Given the description of an element on the screen output the (x, y) to click on. 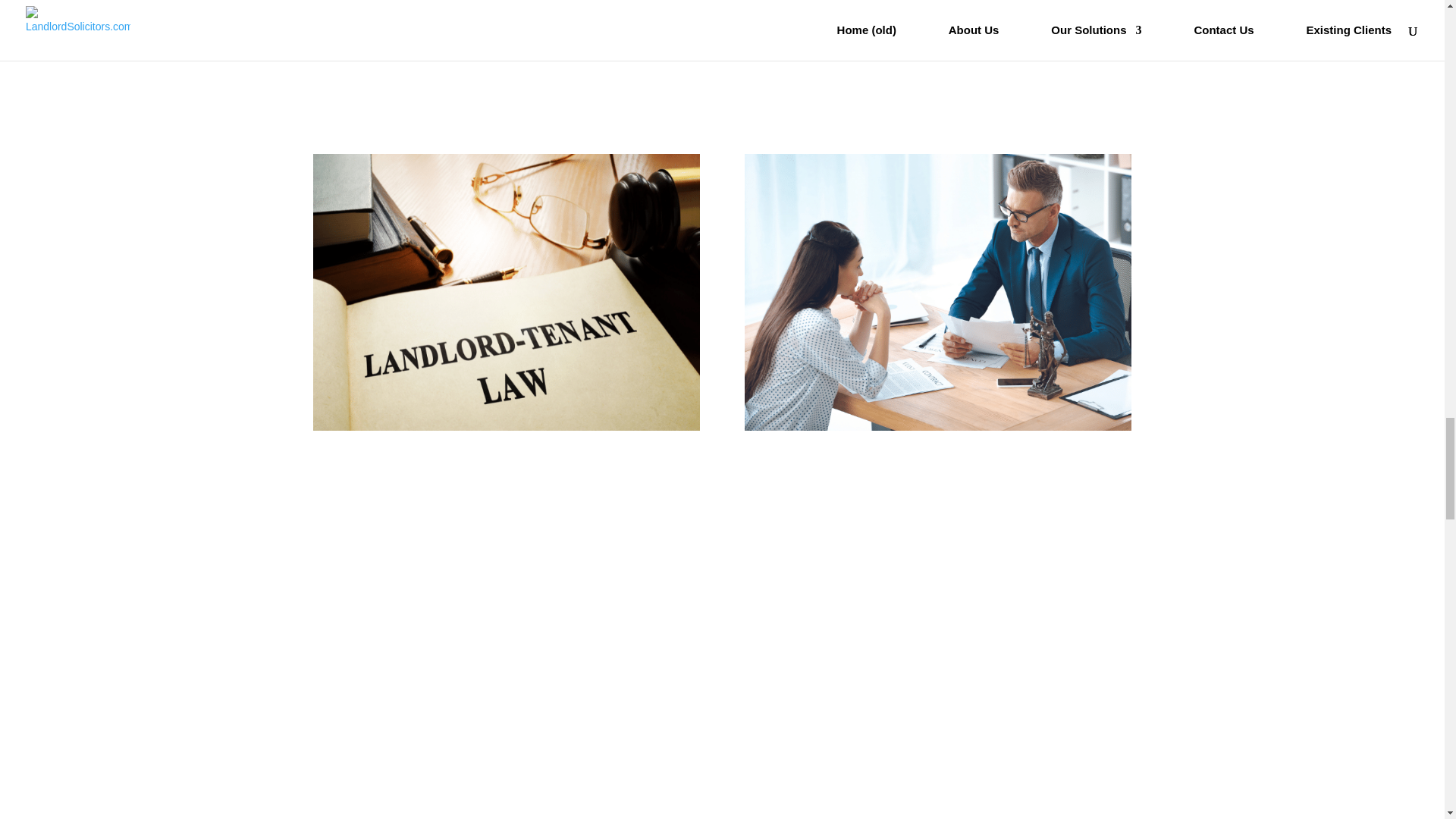
Landlord Solicitors (937, 291)
Landlord Solicitors (505, 291)
